Given the description of an element on the screen output the (x, y) to click on. 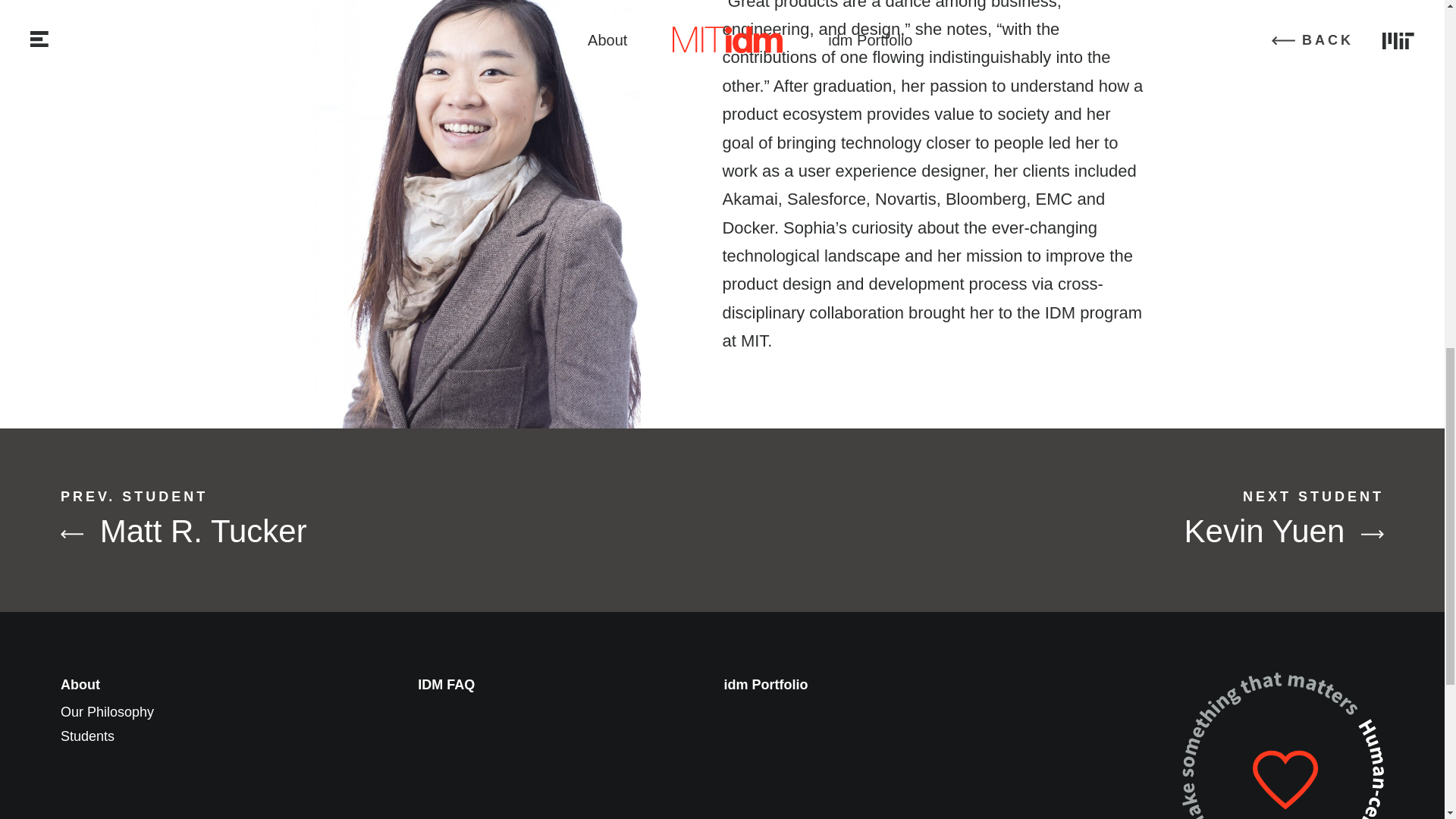
Our Philosophy (107, 711)
idm Portfolio (1086, 518)
Students (358, 518)
IDM FAQ (765, 684)
About (88, 735)
